Given the description of an element on the screen output the (x, y) to click on. 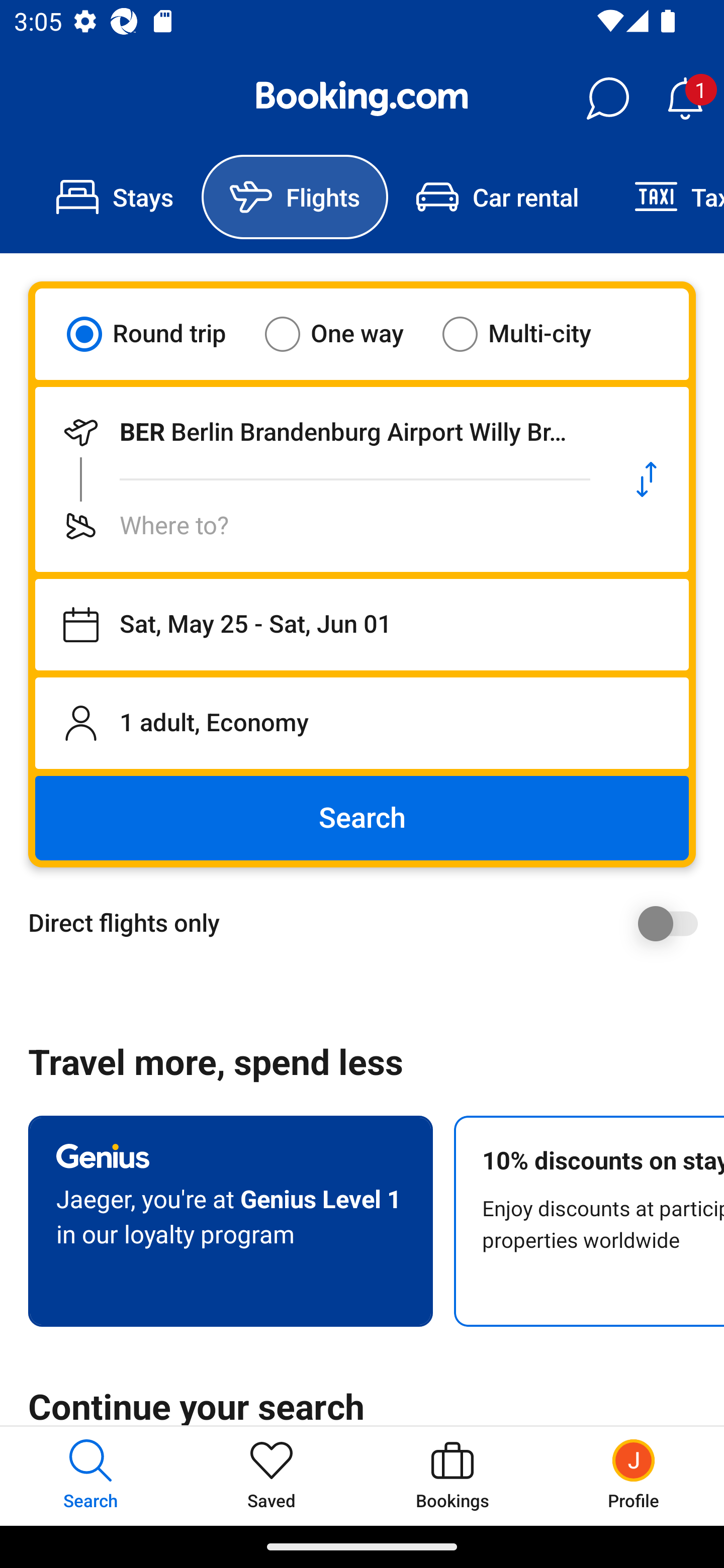
Messages (607, 98)
Notifications (685, 98)
Stays (114, 197)
Flights (294, 197)
Car rental (497, 197)
Taxi (665, 197)
One way (346, 333)
Multi-city (528, 333)
Swap departure location and destination (646, 479)
Flying to  (319, 525)
Departing on Sat, May 25, returning on Sat, Jun 01 (361, 624)
1 adult, Economy (361, 722)
Search (361, 818)
Direct flights only (369, 923)
Saved (271, 1475)
Bookings (452, 1475)
Profile (633, 1475)
